Given the description of an element on the screen output the (x, y) to click on. 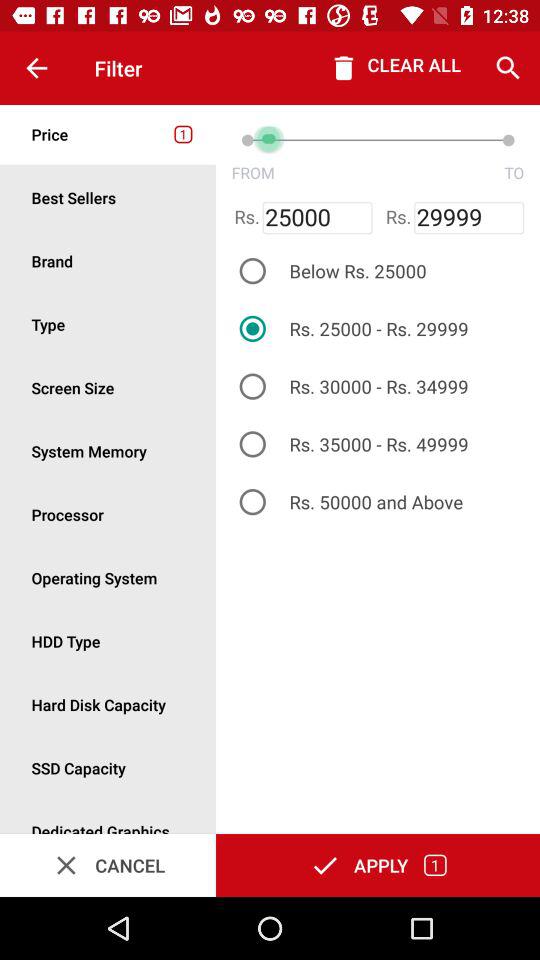
click the icon to the left of filter icon (36, 68)
